Given the description of an element on the screen output the (x, y) to click on. 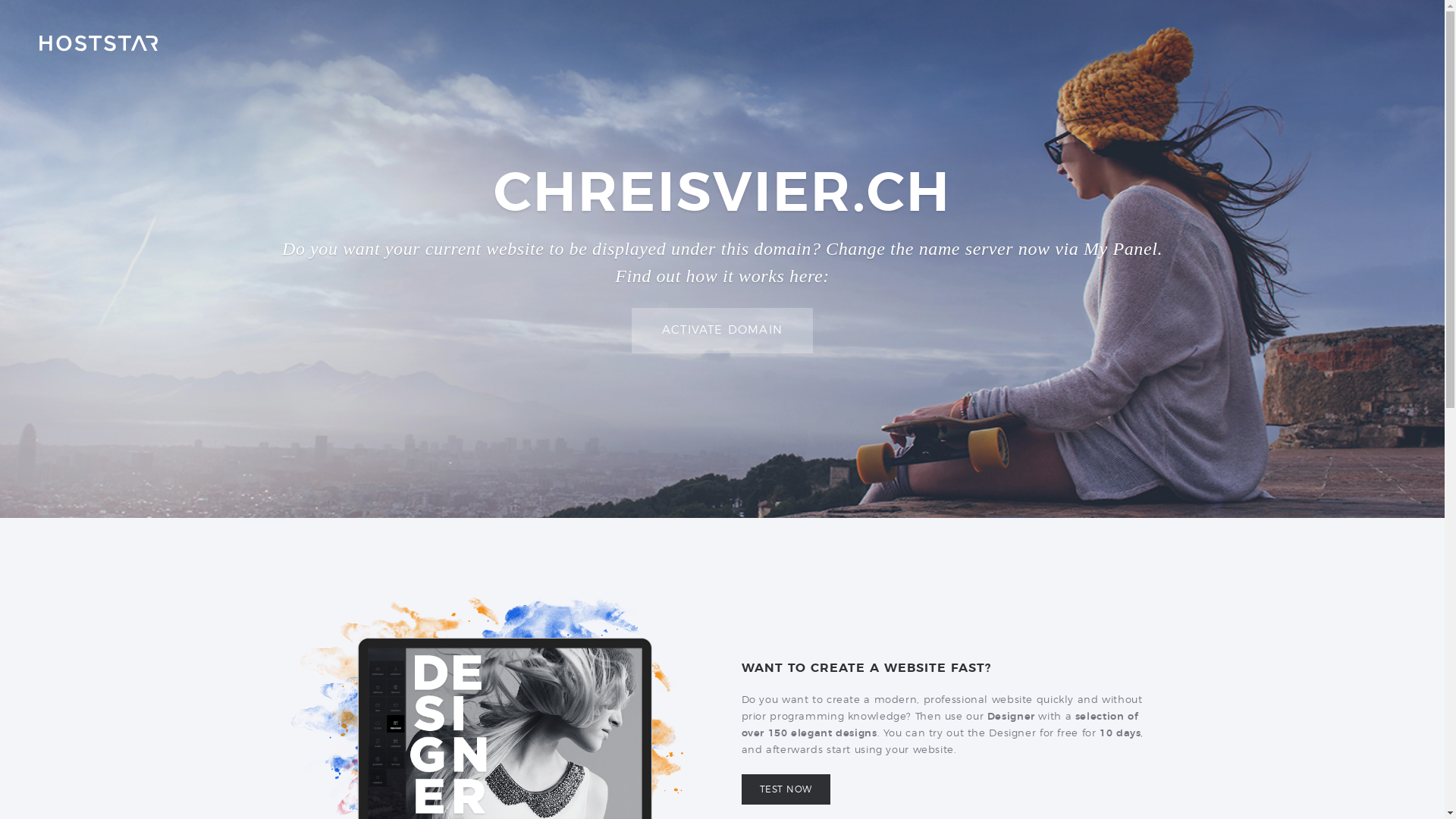
TEST NOW Element type: text (785, 789)
ACTIVATE DOMAIN Element type: text (721, 330)
ACTIVATE DOMAIN Element type: text (721, 330)
